Given the description of an element on the screen output the (x, y) to click on. 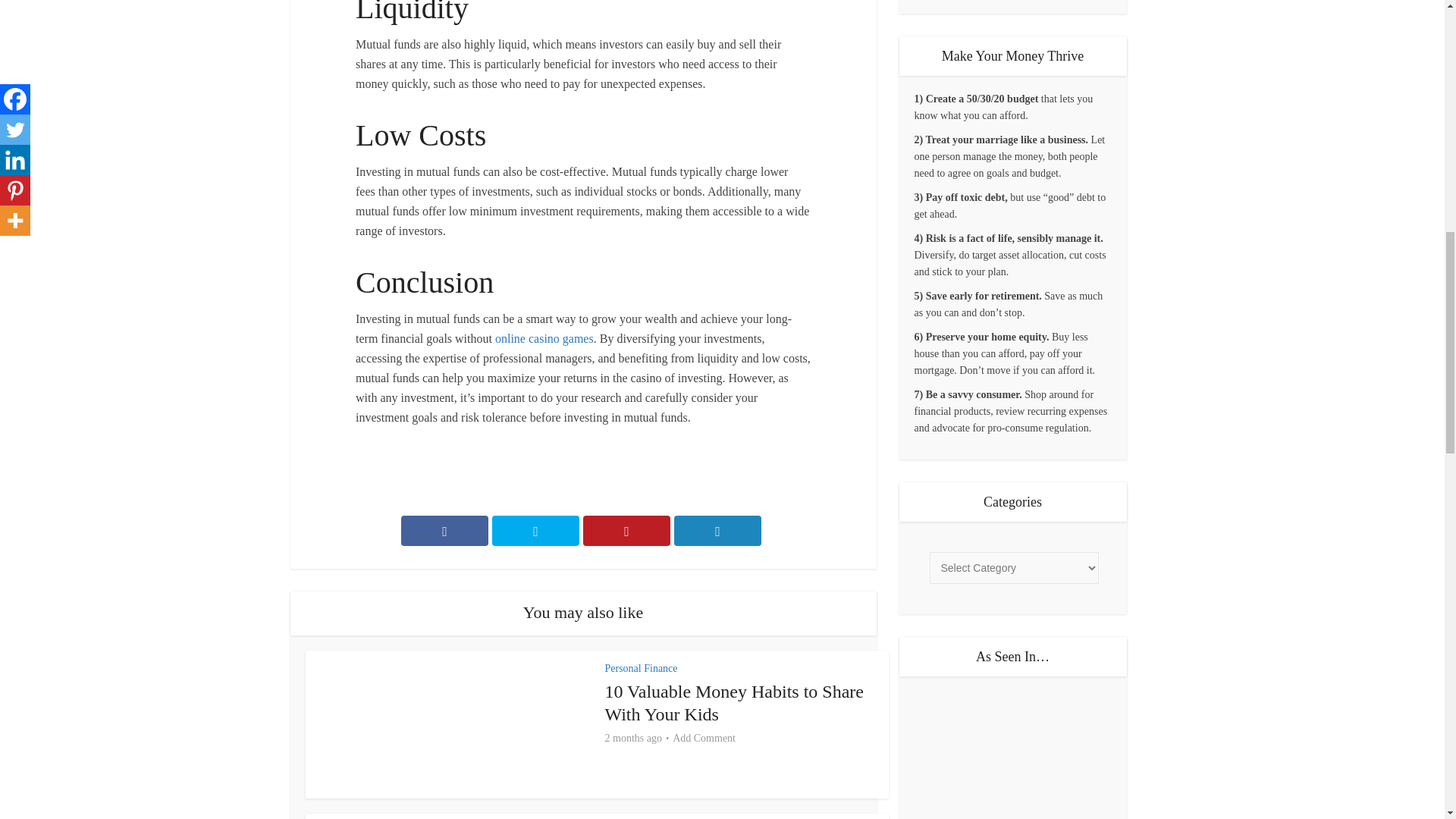
10 Valuable Money Habits to Share With Your Kids (734, 702)
online casino games (544, 338)
Add Comment (703, 738)
Personal Finance (641, 668)
10 Valuable Money Habits to Share With Your Kids (734, 702)
